Given the description of an element on the screen output the (x, y) to click on. 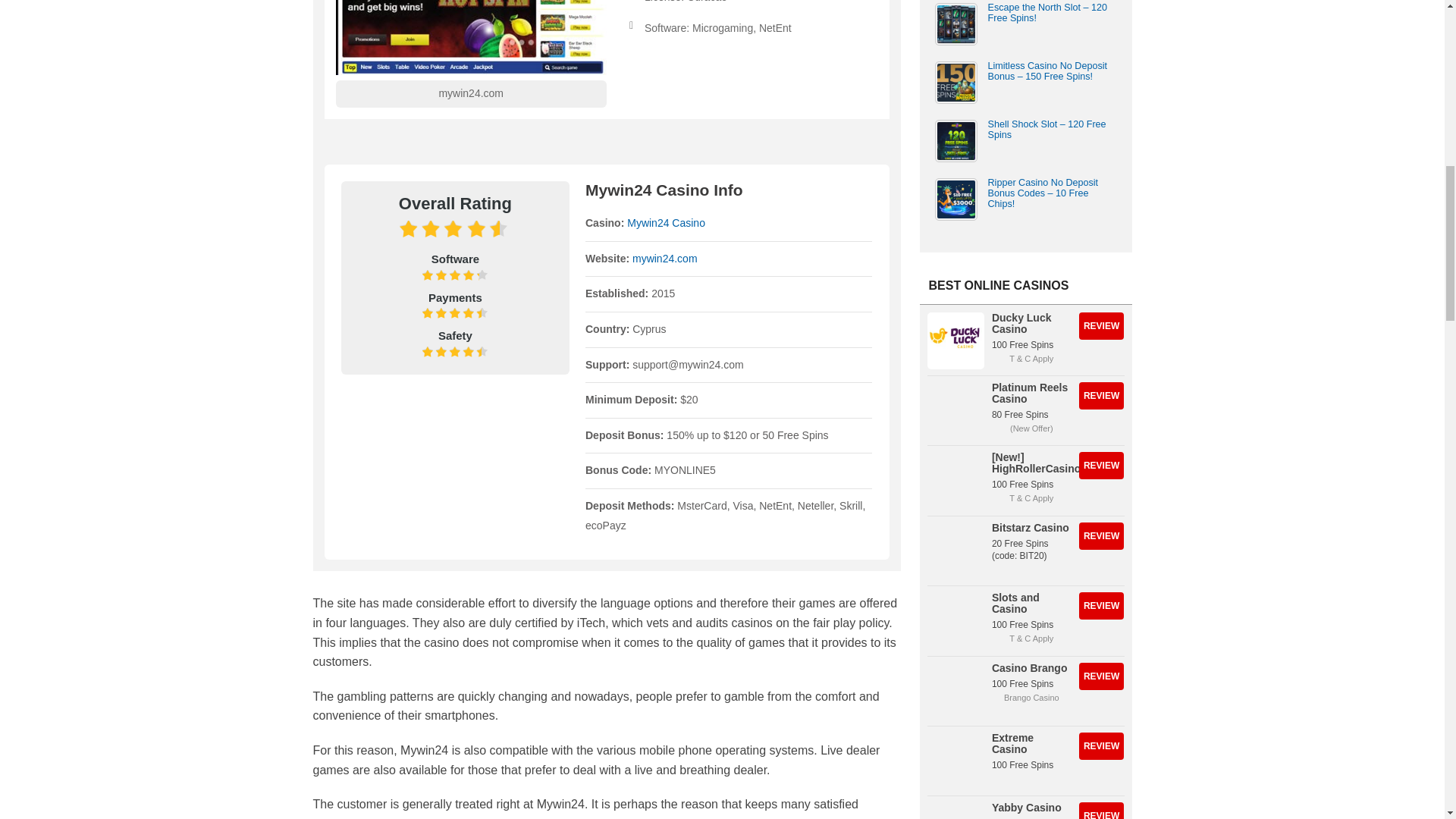
Bitstarz Casino (1101, 535)
Slots and Casino (955, 620)
Ducky Luck Casino (955, 340)
Platinum Reels Casino (1101, 395)
Platinum Reels Casino (955, 410)
Ducky Luck Casino (1101, 325)
Bitstarz Casino (955, 550)
